Given the description of an element on the screen output the (x, y) to click on. 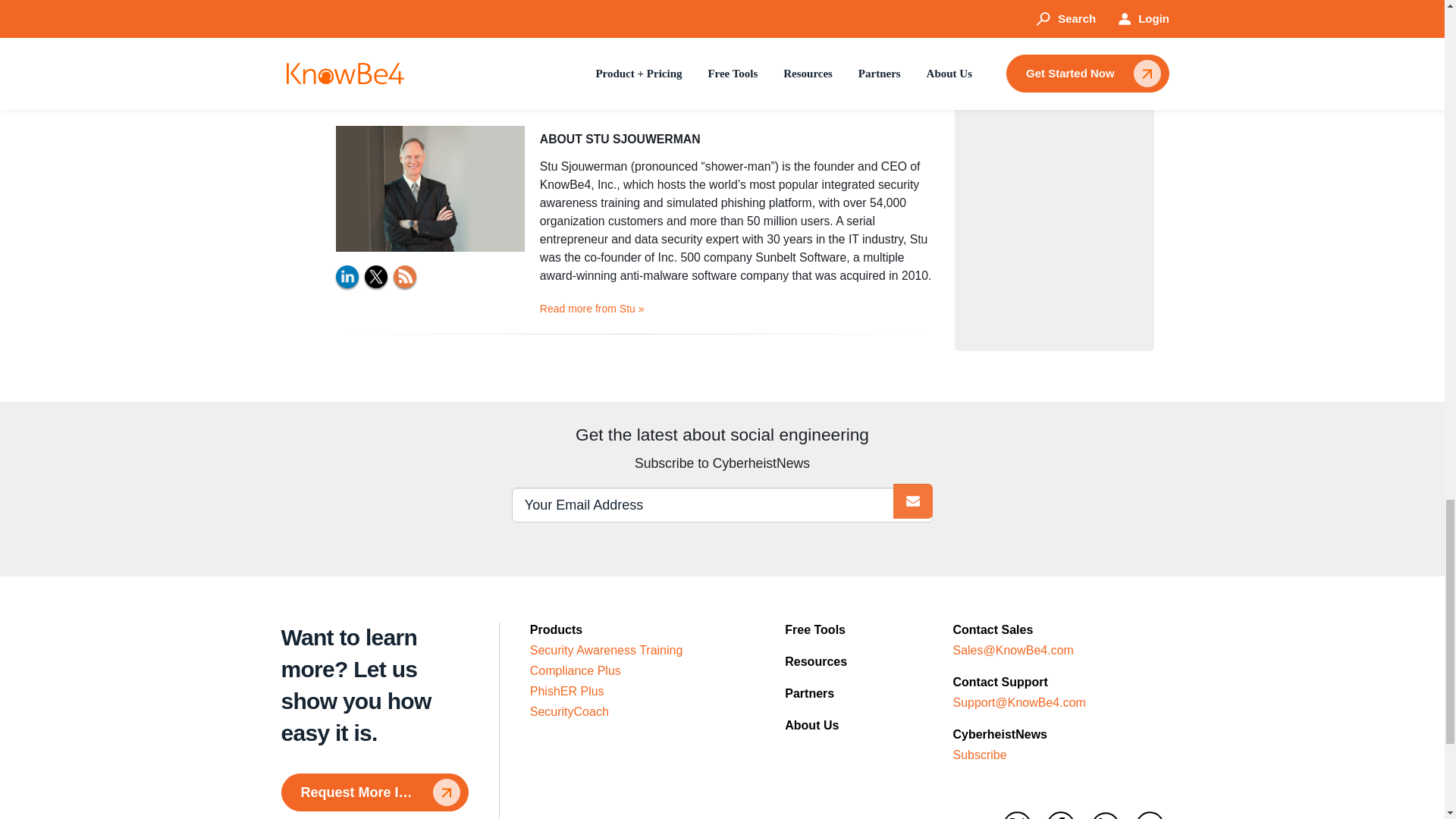
. (913, 501)
Request More Info (374, 792)
